Given the description of an element on the screen output the (x, y) to click on. 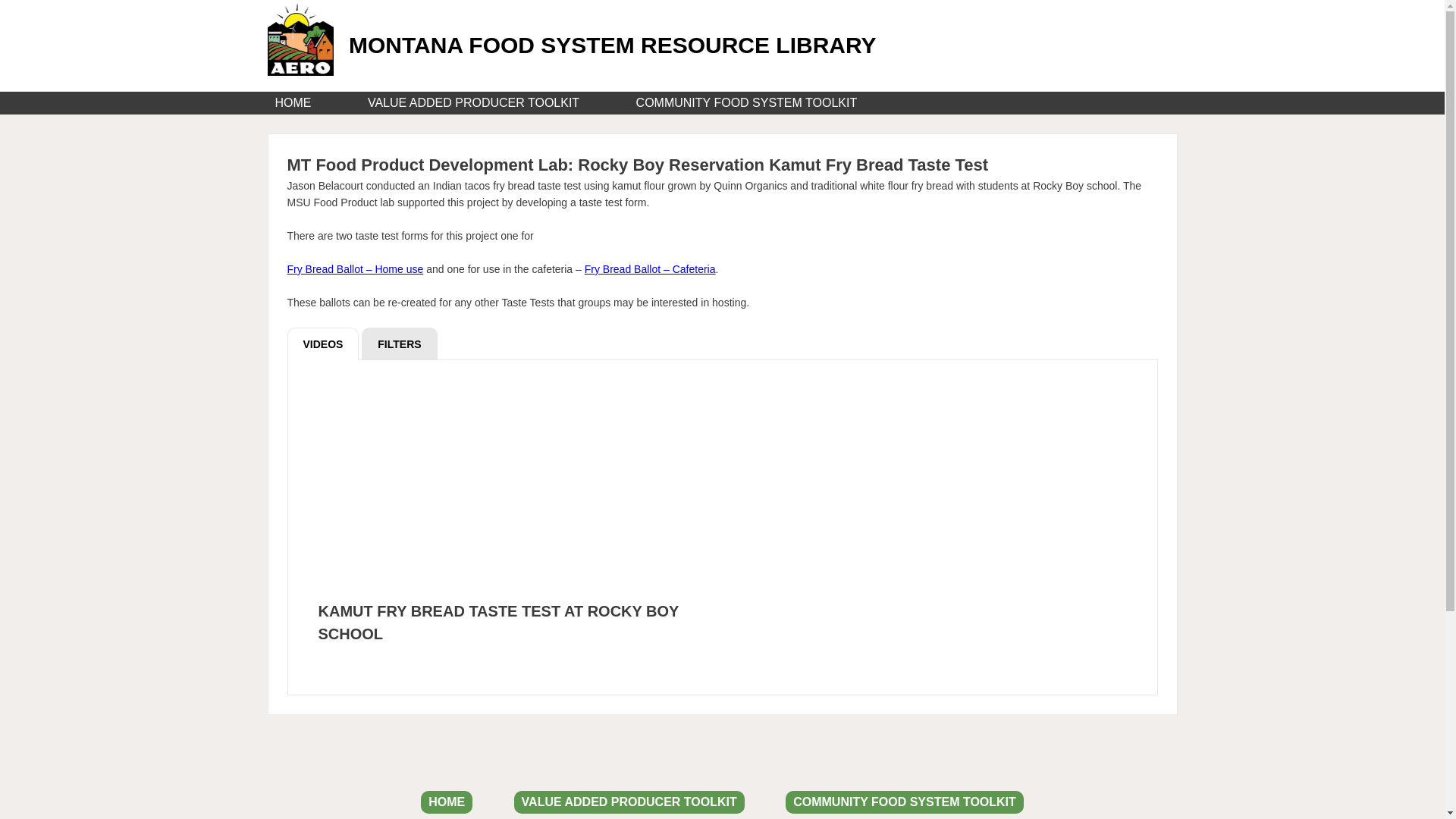
VALUE ADDED PRODUCER TOOLKIT (472, 102)
COMMUNITY FOOD SYSTEM TOOLKIT (904, 802)
FILTERS (398, 343)
HOME (292, 102)
VALUE ADDED PRODUCER TOOLKIT (628, 802)
VIDEOS (322, 343)
MONTANA FOOD SYSTEM RESOURCE LIBRARY (612, 44)
10000000 331306495097674 3688755282892944190 n (514, 489)
COMMUNITY FOOD SYSTEM TOOLKIT (746, 102)
HOME (445, 802)
